Given the description of an element on the screen output the (x, y) to click on. 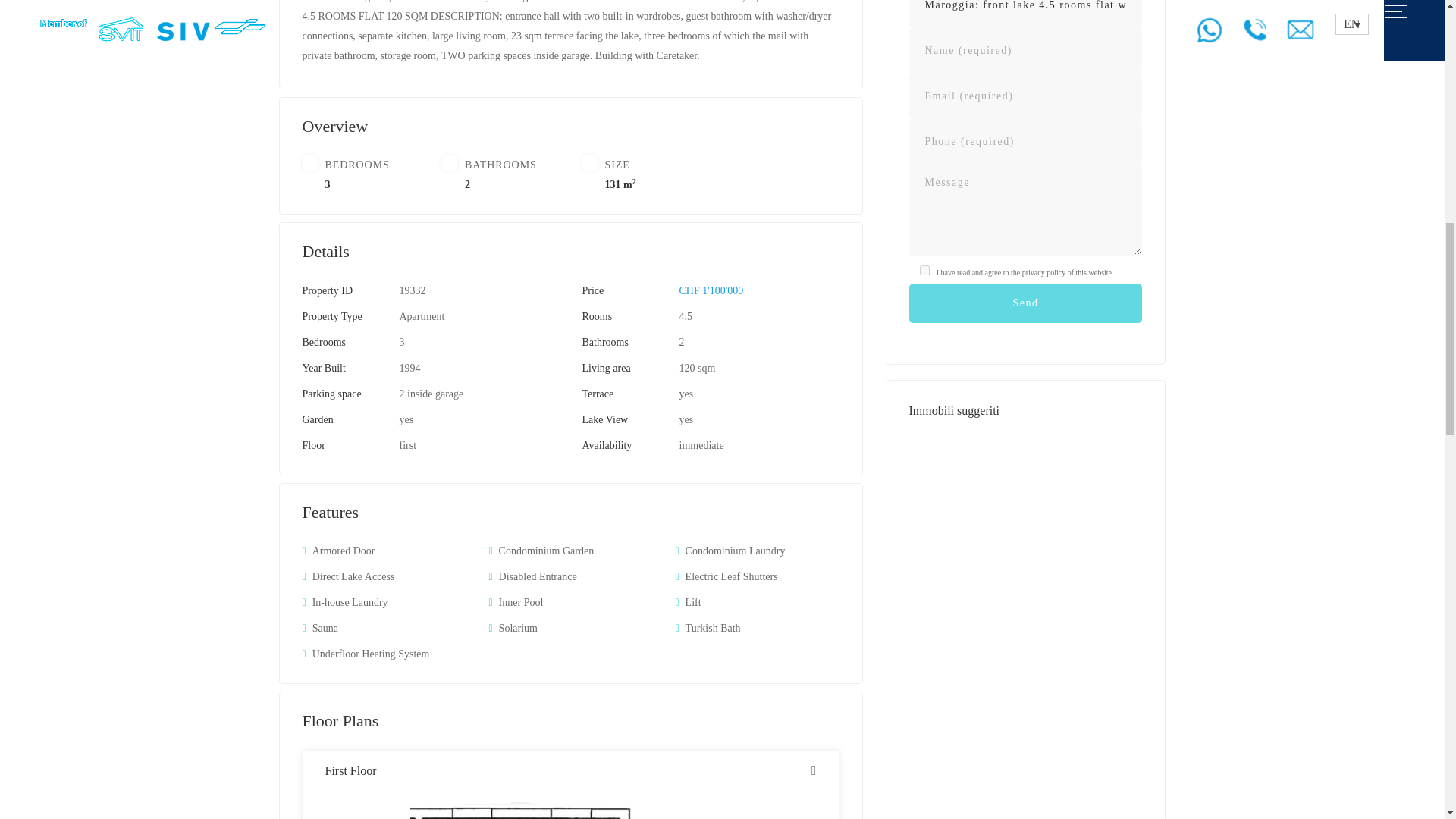
Condominium Garden (546, 551)
Maroggia: front lake 4.5 rooms flat with pool (1024, 13)
Armored Door (344, 551)
1 (923, 270)
Send (1024, 302)
Apartment (421, 316)
